Given the description of an element on the screen output the (x, y) to click on. 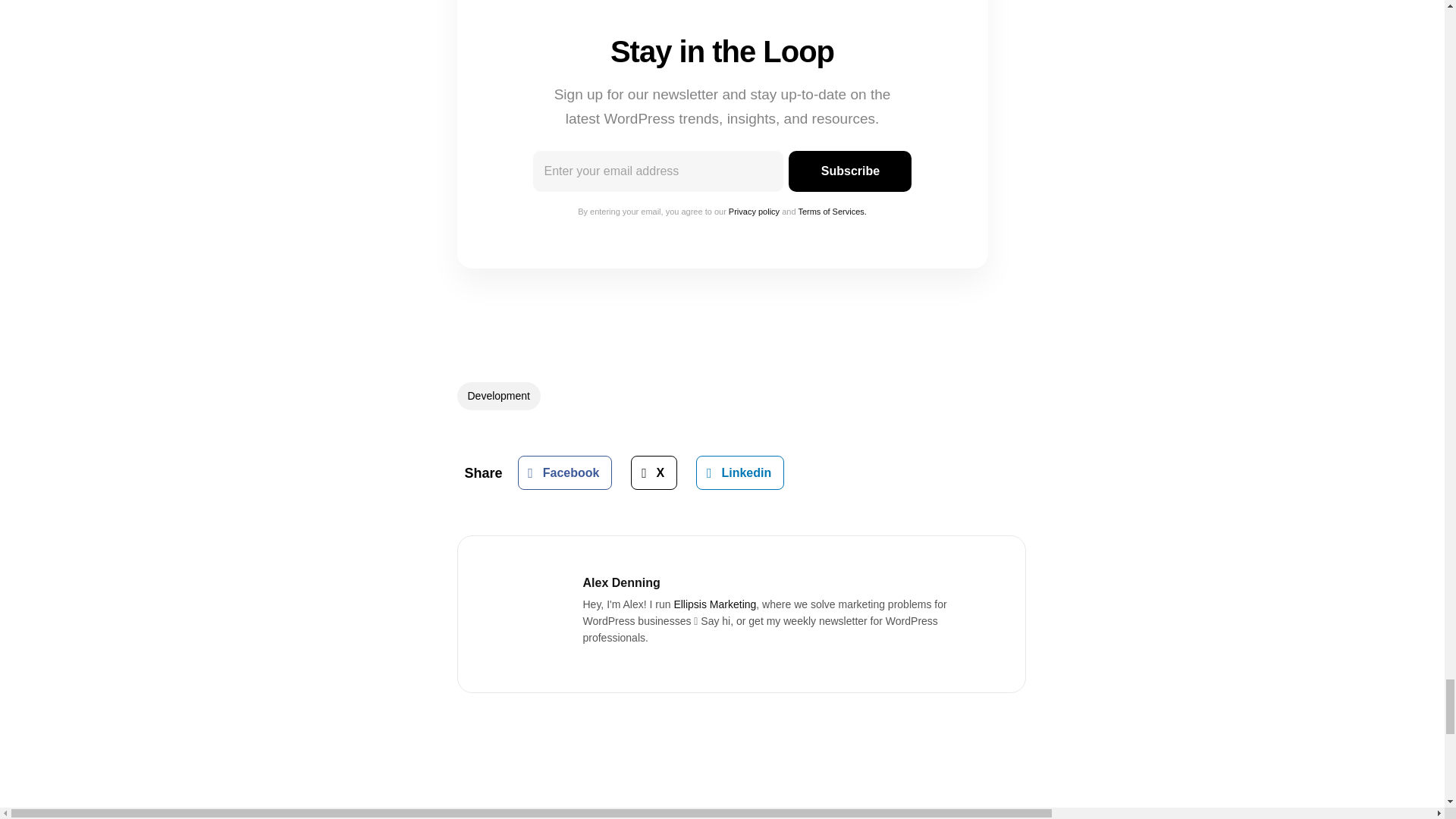
Terms of Services. (831, 211)
Subscribe (850, 170)
Privacy policy (753, 211)
Development (498, 396)
Ellipsis Marketing (713, 604)
